Given the description of an element on the screen output the (x, y) to click on. 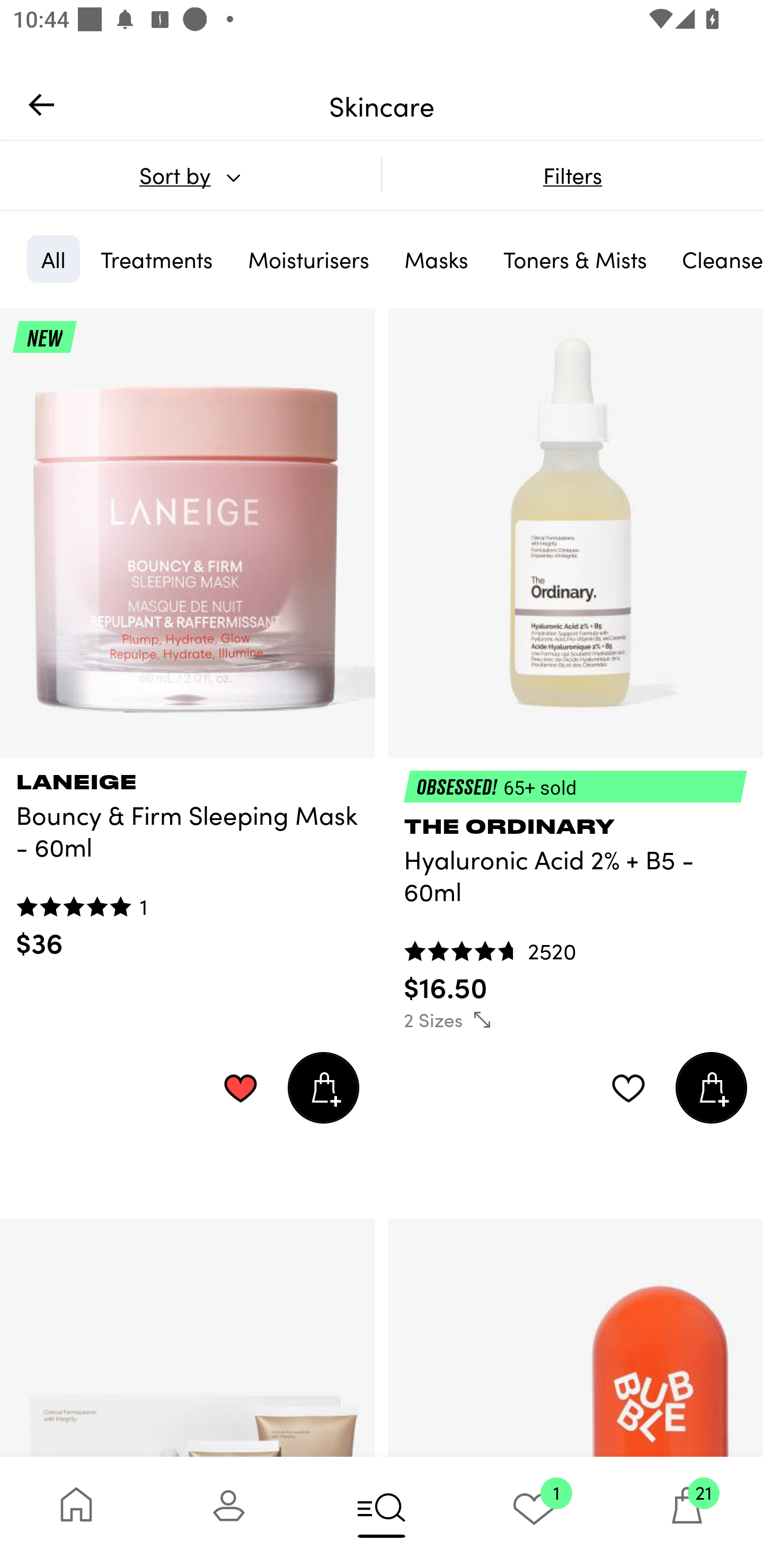
Sort by (190, 174)
Filters (572, 174)
All (53, 258)
Treatments (156, 258)
Moisturisers (308, 258)
Masks (435, 258)
Toners & Mists (575, 258)
Cleansers & Exfoliators (715, 258)
LANEIGE Bouncy & Firm Sleeping Mask - 60ml 1 $36 (187, 859)
1 (533, 1512)
21 (686, 1512)
